Given the description of an element on the screen output the (x, y) to click on. 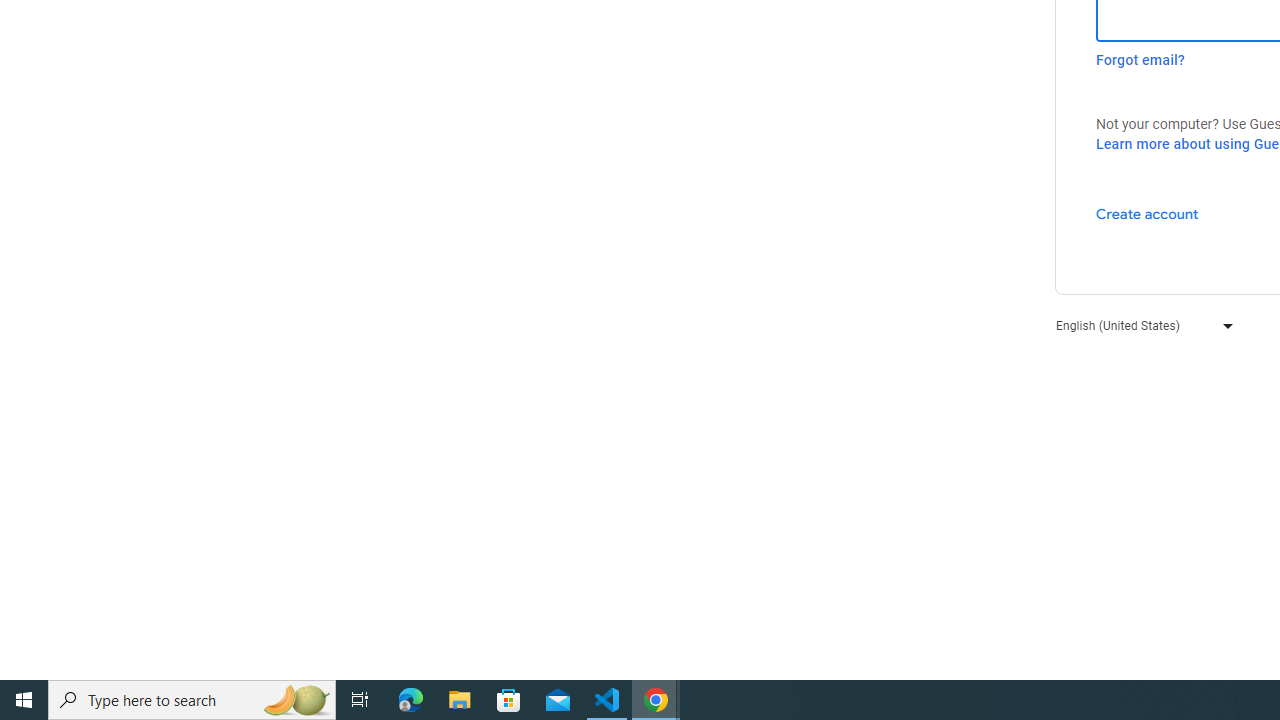
Forgot email? (1140, 59)
English (United States) (1139, 324)
Create account (1146, 213)
